Given the description of an element on the screen output the (x, y) to click on. 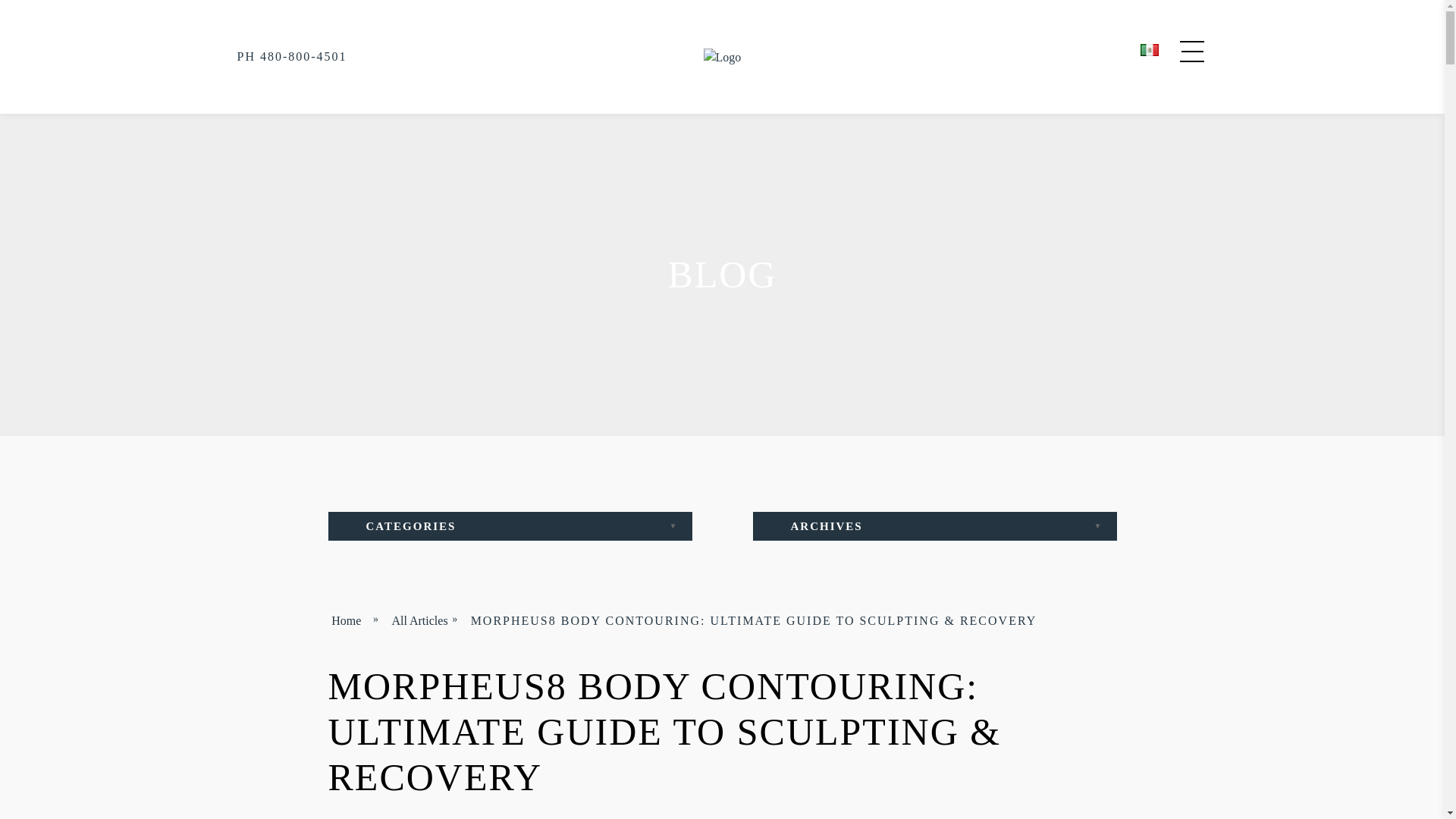
CATEGORIES (509, 526)
ARCHIVES (934, 526)
PH 480-800-4501 (290, 56)
